Given the description of an element on the screen output the (x, y) to click on. 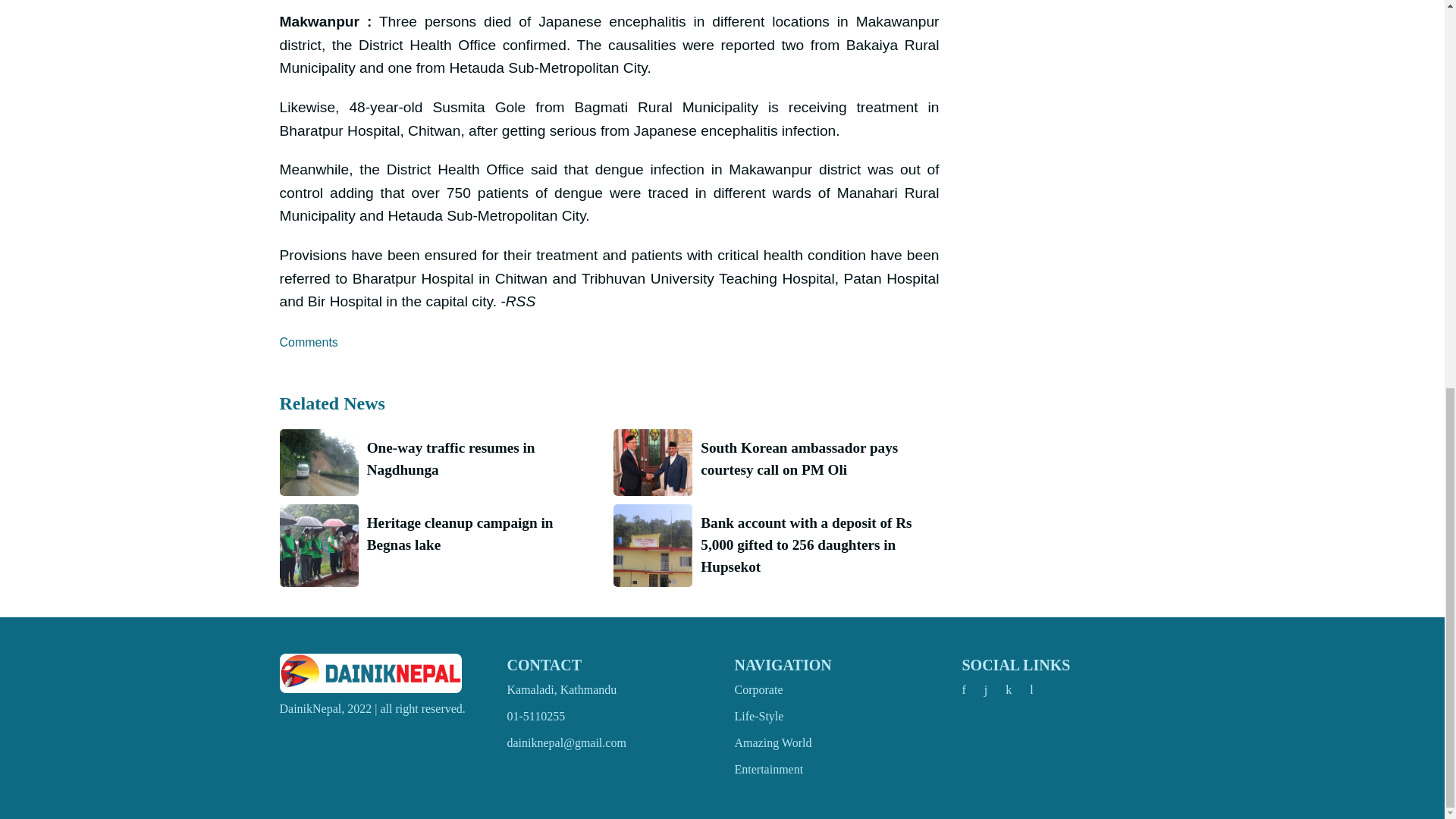
Life-Style (758, 716)
South Korean ambassador pays courtesy call on PM Oli (815, 459)
Entertainment (768, 768)
One-way traffic resumes in Nagdhunga (481, 459)
Corporate (758, 689)
Amazing World (771, 742)
Heritage cleanup campaign in Begnas lake (481, 534)
